Given the description of an element on the screen output the (x, y) to click on. 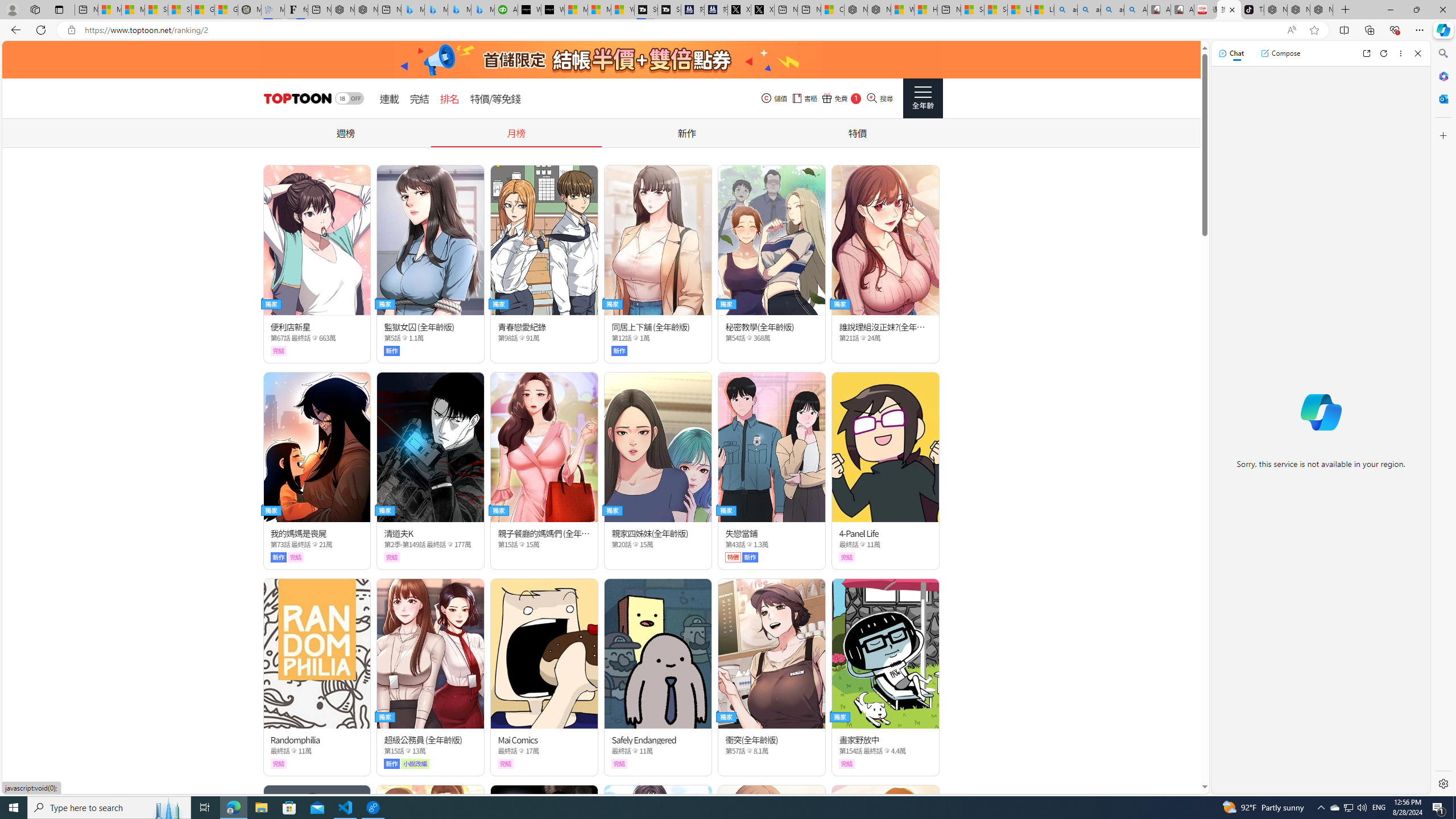
Amazon Echo Robot - Search Images (1135, 9)
